Given the description of an element on the screen output the (x, y) to click on. 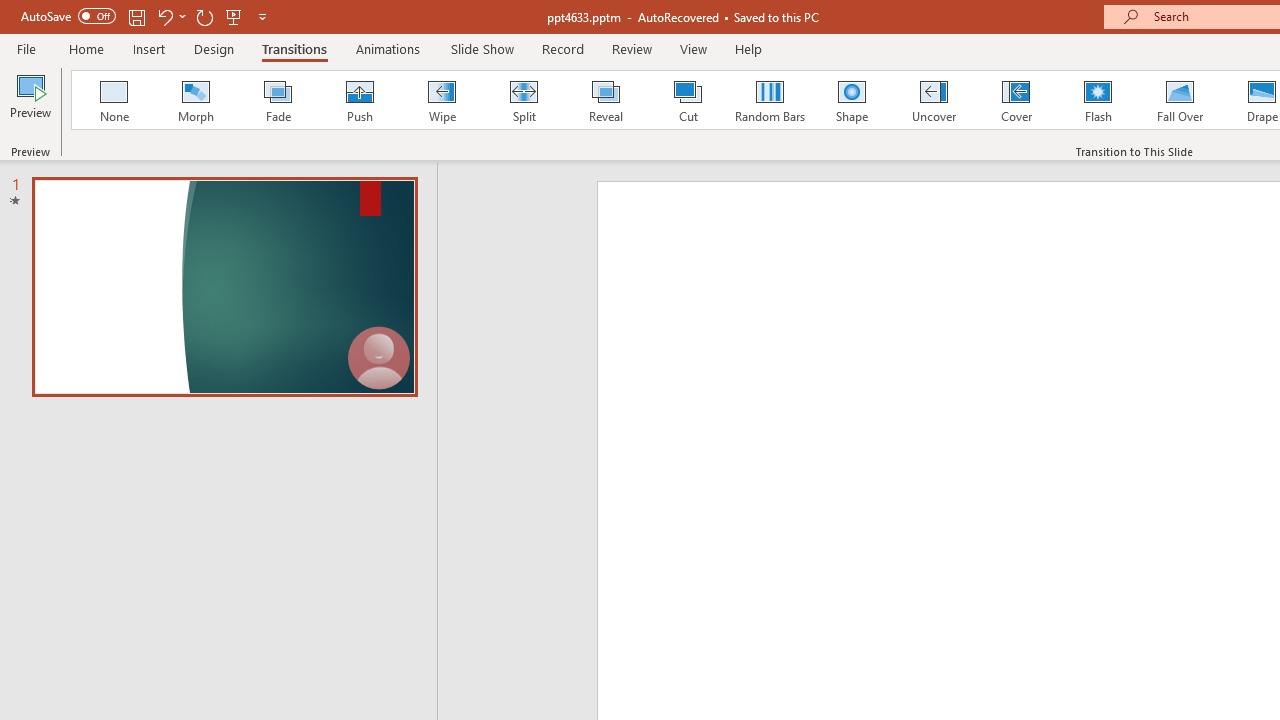
Fade (277, 100)
